Given the description of an element on the screen output the (x, y) to click on. 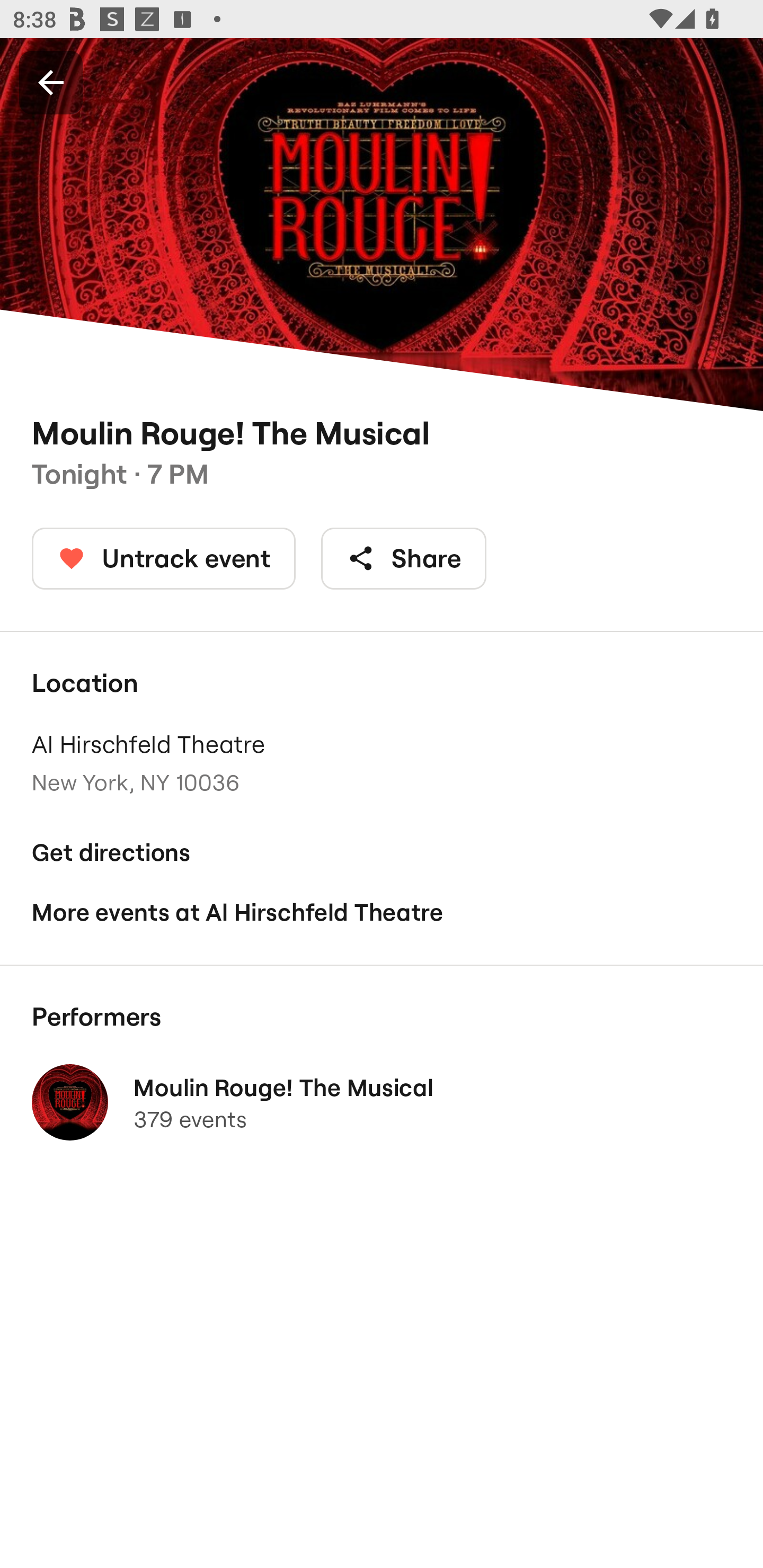
Back (50, 81)
Untrack event (164, 557)
Share (403, 557)
Get directions (381, 852)
More events at Al Hirschfeld Theatre (381, 912)
Moulin Rouge! The Musical 379 events (381, 1102)
